Given the description of an element on the screen output the (x, y) to click on. 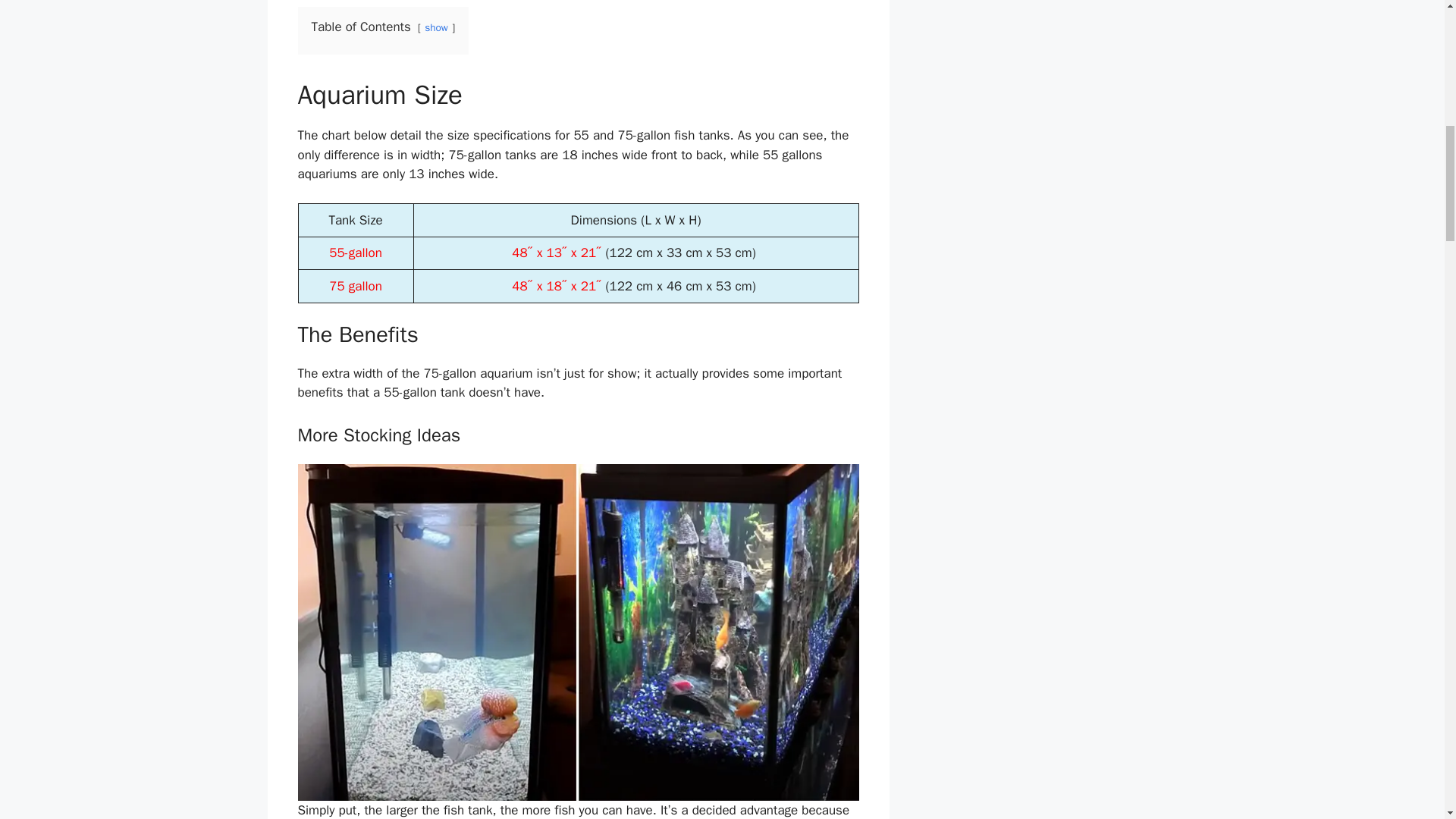
show (436, 27)
